Given the description of an element on the screen output the (x, y) to click on. 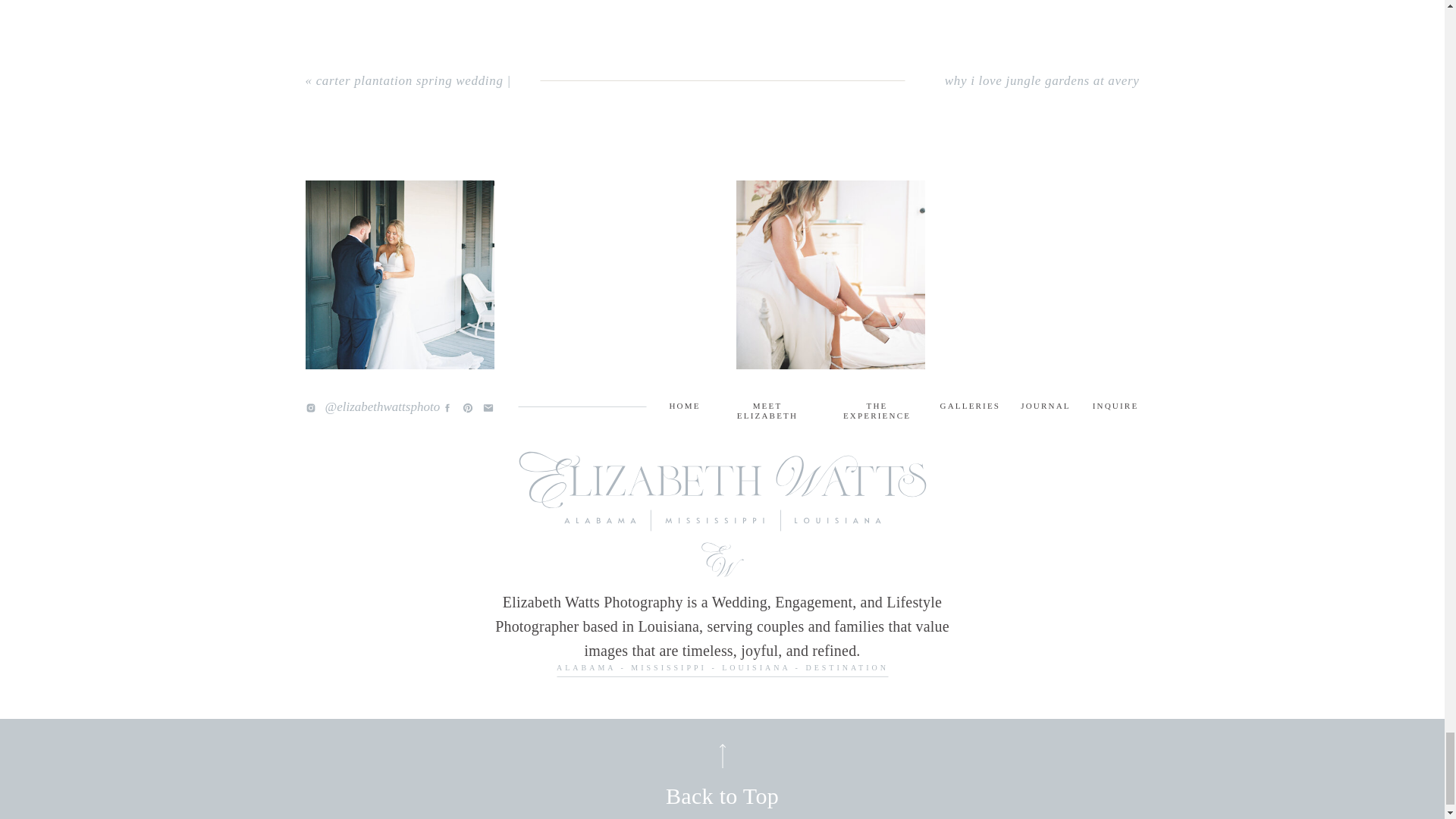
Back to Top (721, 794)
why i love jungle gardens at avery island (1042, 92)
INQUIRE (1115, 407)
JOURNAL (1046, 407)
THE EXPERIENCE (876, 407)
HOME (684, 407)
GALLERIES (970, 407)
MEET ELIZABETH (767, 407)
